Given the description of an element on the screen output the (x, y) to click on. 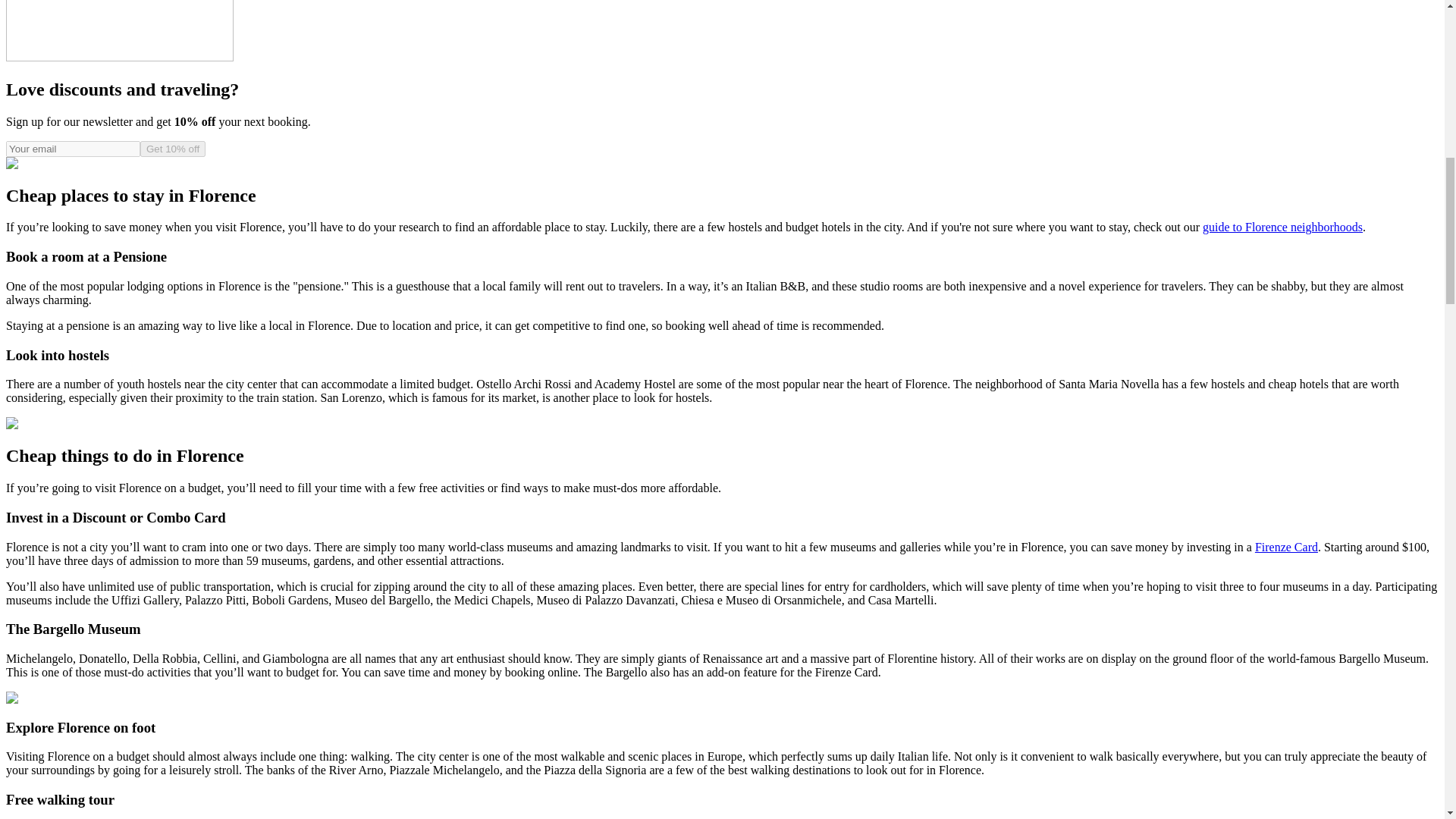
guide to Florence neighborhoods (1282, 226)
Firenze Card (1286, 546)
